Given the description of an element on the screen output the (x, y) to click on. 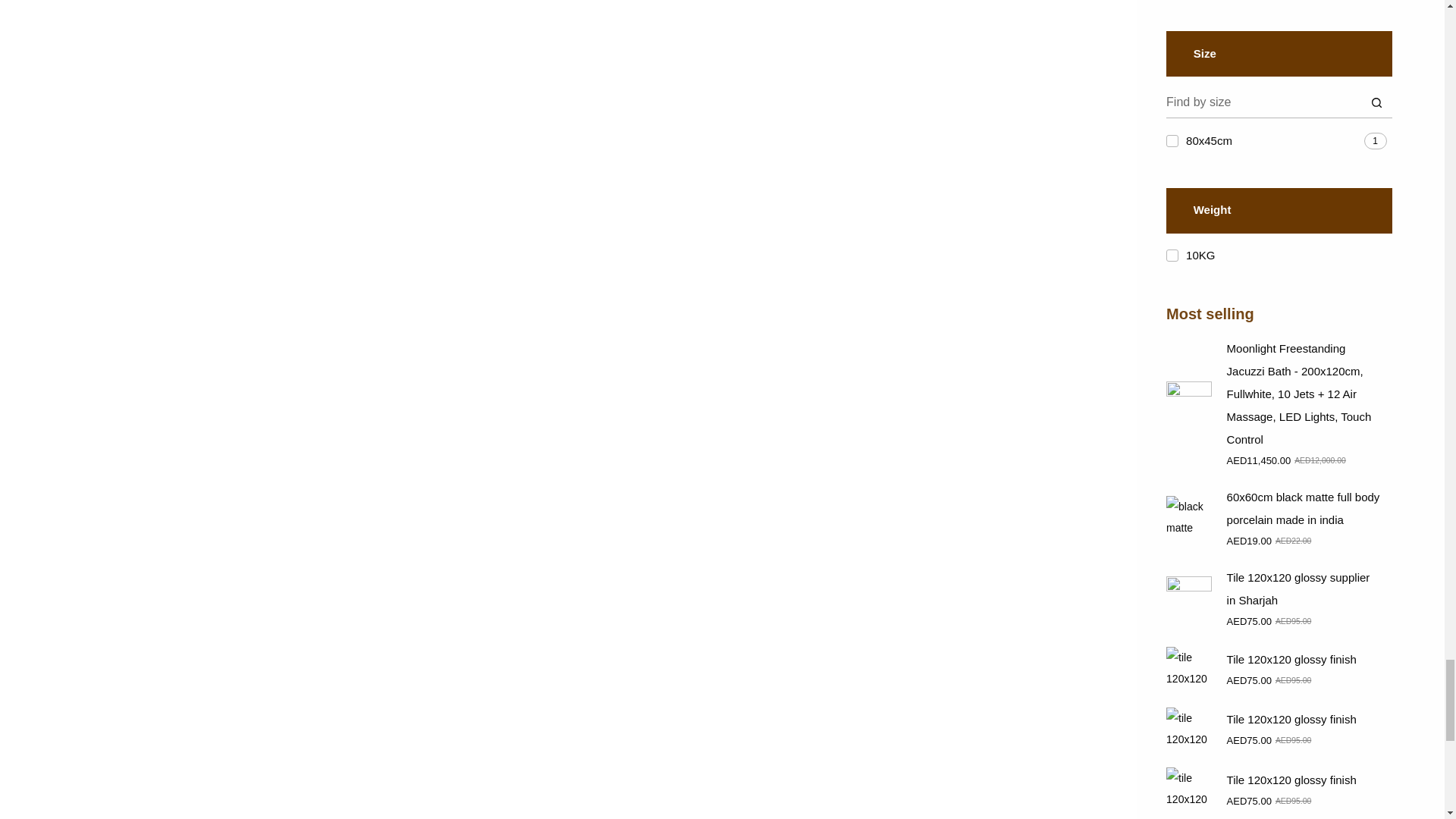
Untitled design (1188, 403)
on (1171, 255)
tile 120x120 (1188, 790)
on (1171, 141)
tile 120x120 (1188, 669)
tile 120x120 (1188, 729)
tile 120x120 (1188, 598)
black matte porcelain full body tile (1188, 518)
